Given the description of an element on the screen output the (x, y) to click on. 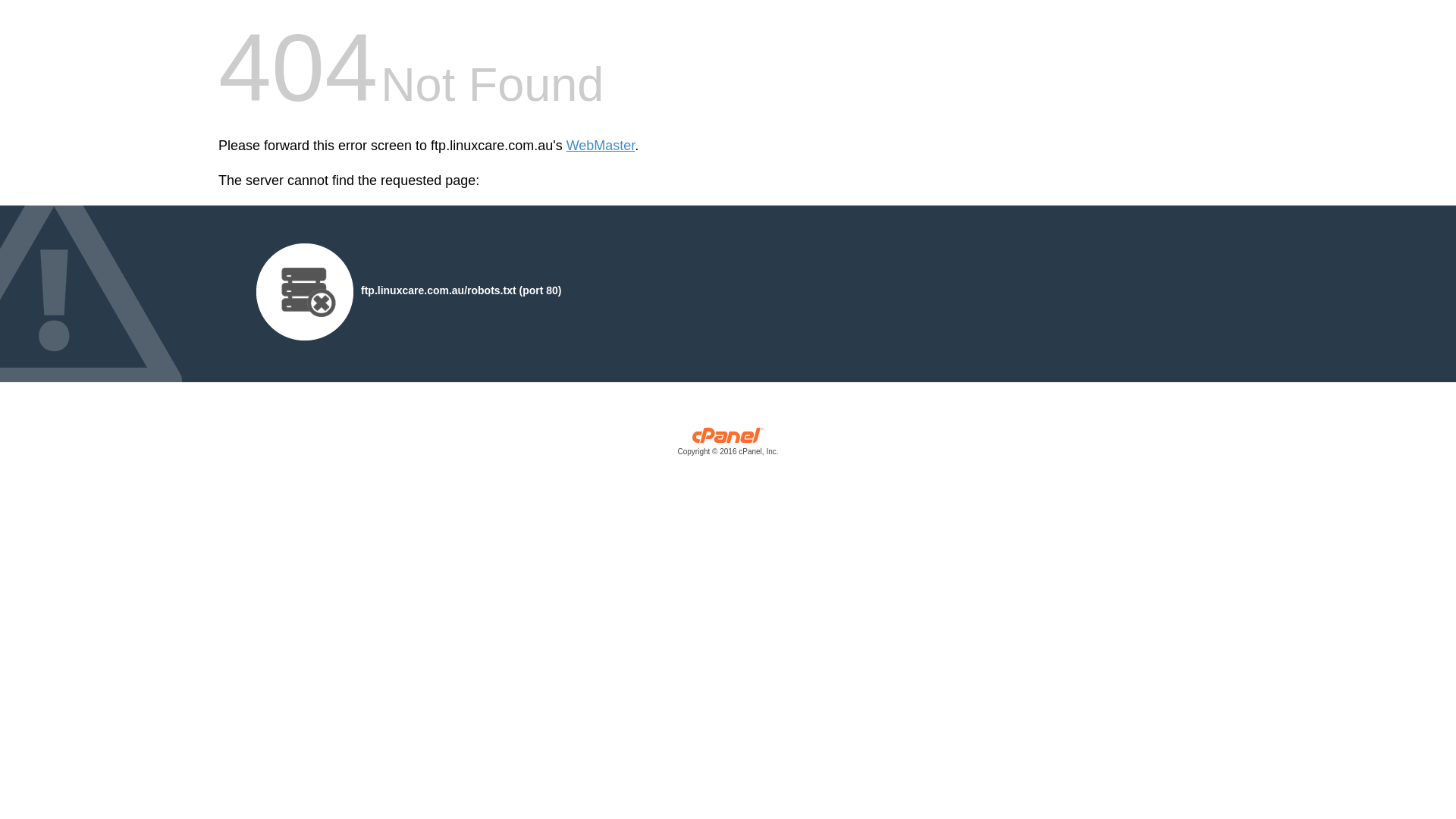
WebMaster Element type: text (600, 145)
